Given the description of an element on the screen output the (x, y) to click on. 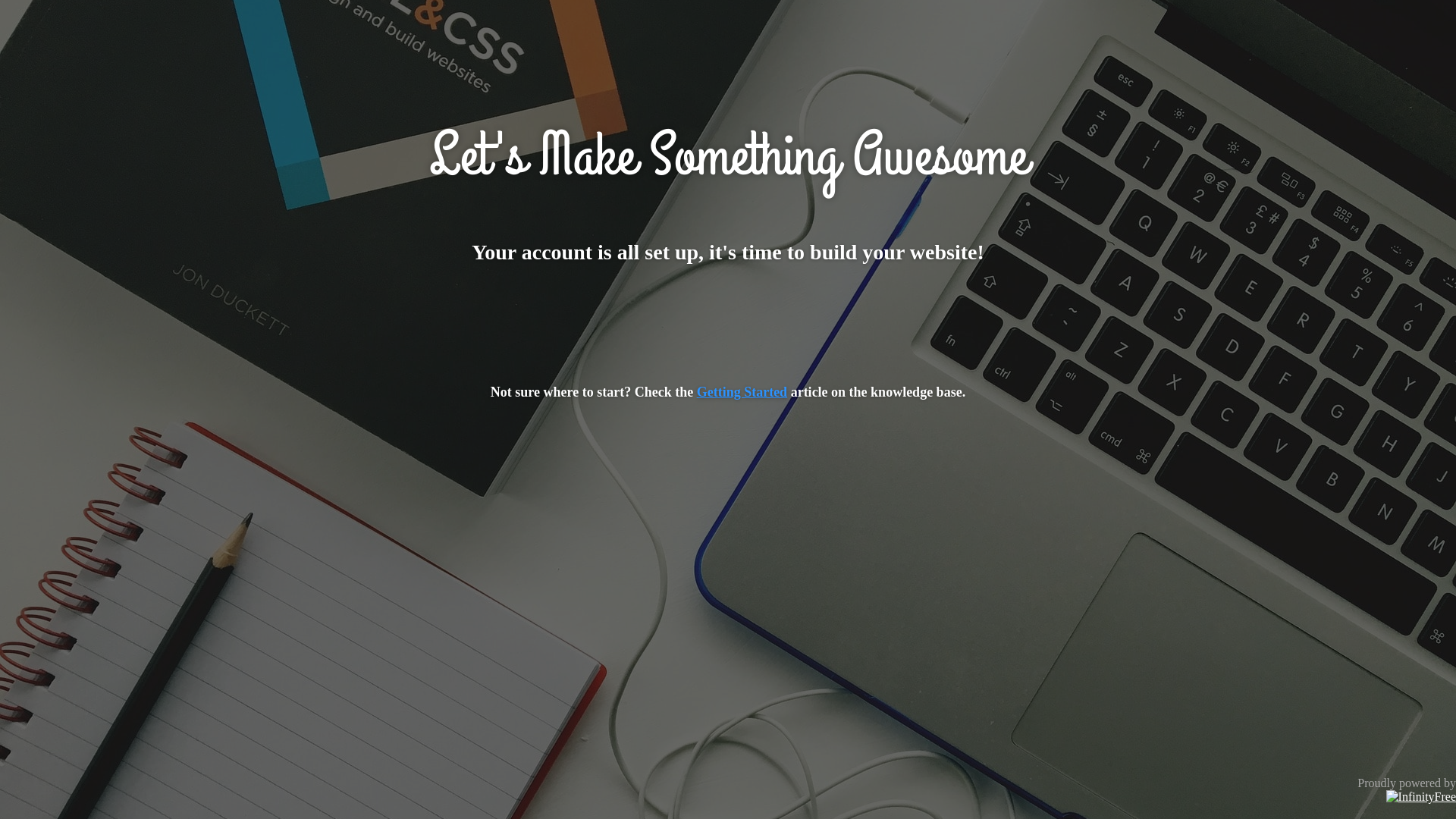
Getting Started Element type: text (741, 391)
